Given the description of an element on the screen output the (x, y) to click on. 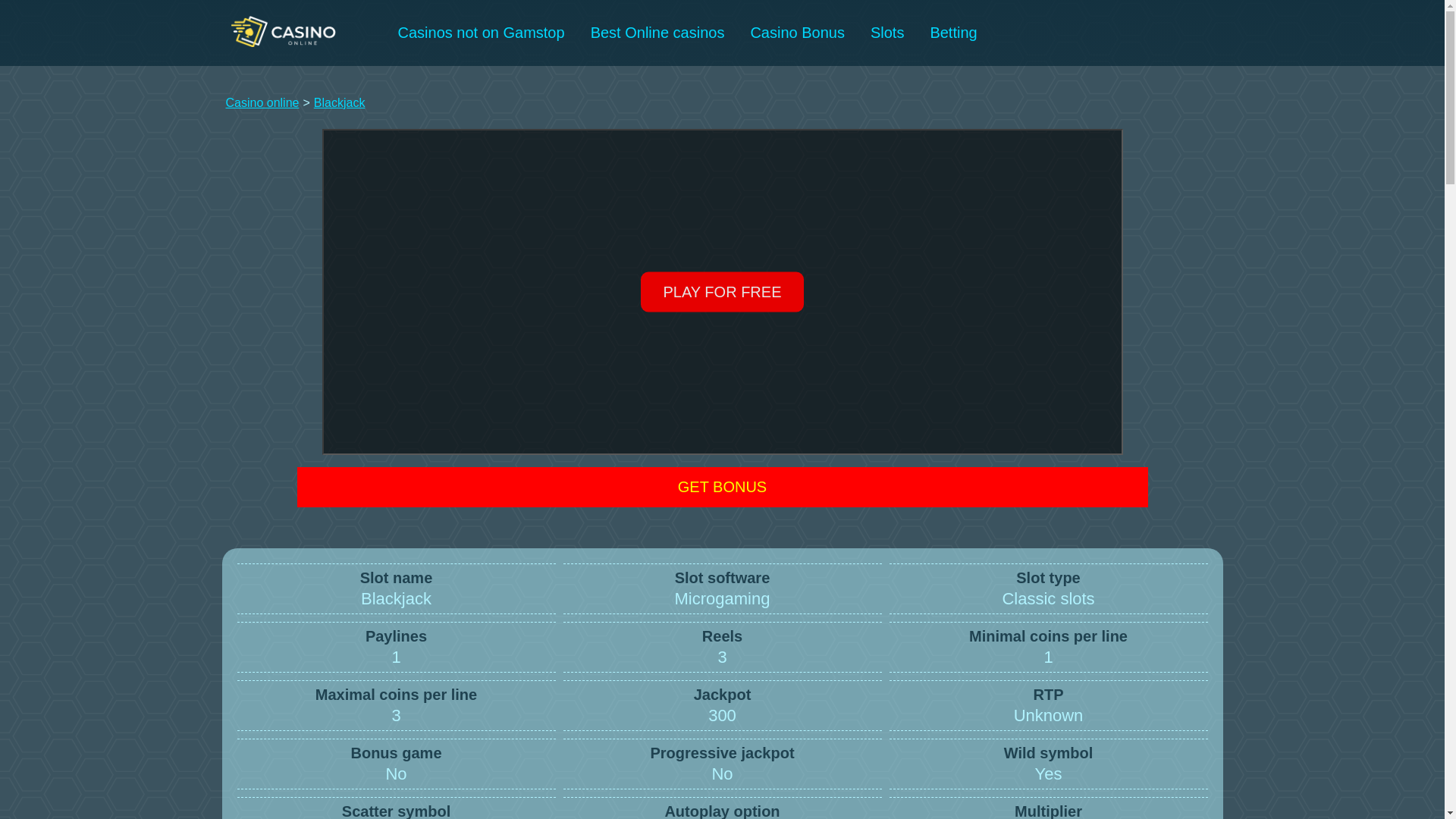
Casino Bonus (796, 32)
Casinos not on Gamstop (480, 32)
Best Online casinos (658, 32)
